Given the description of an element on the screen output the (x, y) to click on. 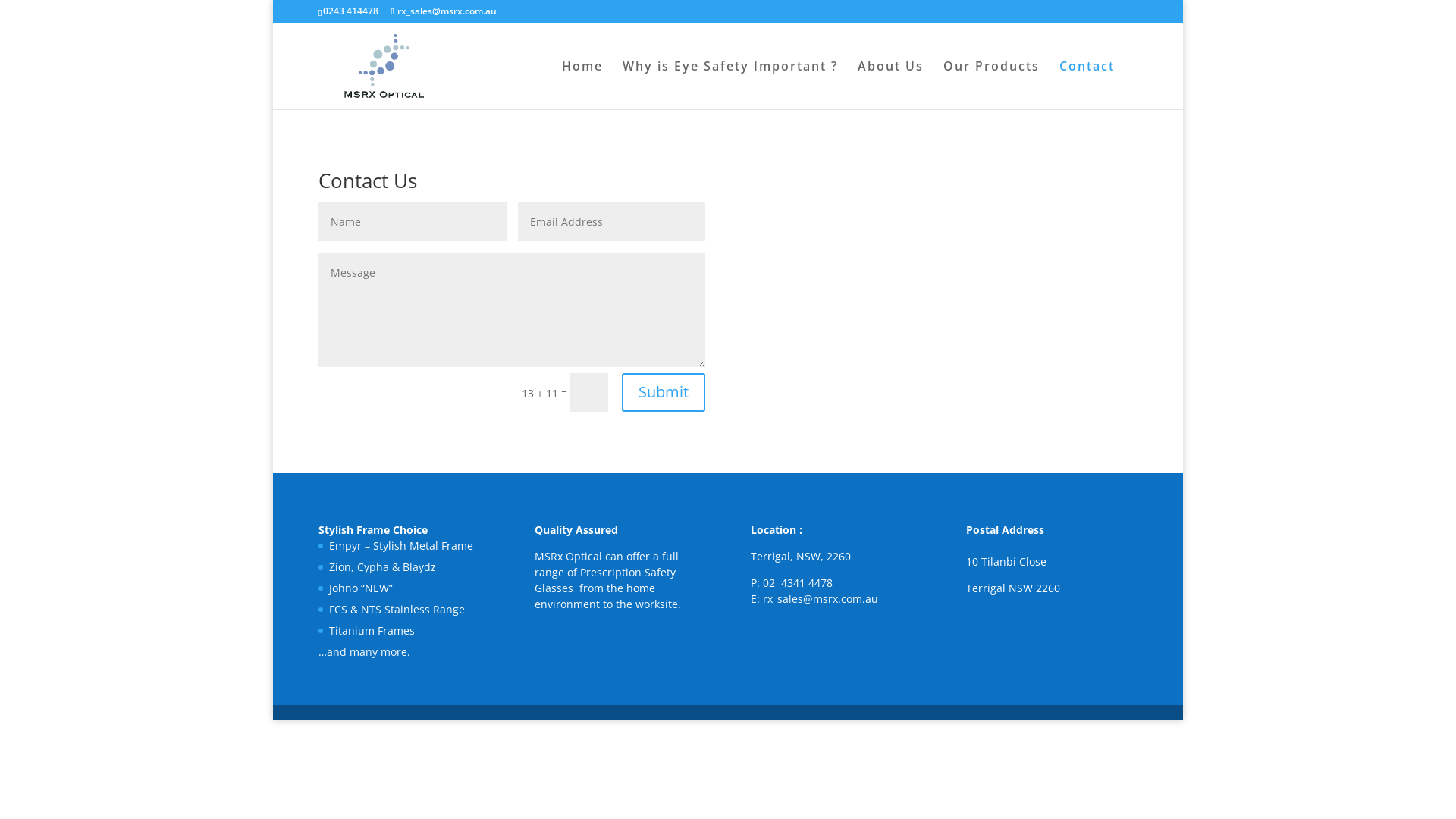
Home Element type: text (581, 84)
Submit Element type: text (663, 392)
Contact Element type: text (1086, 84)
About Us Element type: text (890, 84)
Why is Eye Safety Important ? Element type: text (729, 84)
rx_sales@msrx.com.au Element type: text (442, 10)
Our Products Element type: text (991, 84)
